Given the description of an element on the screen output the (x, y) to click on. 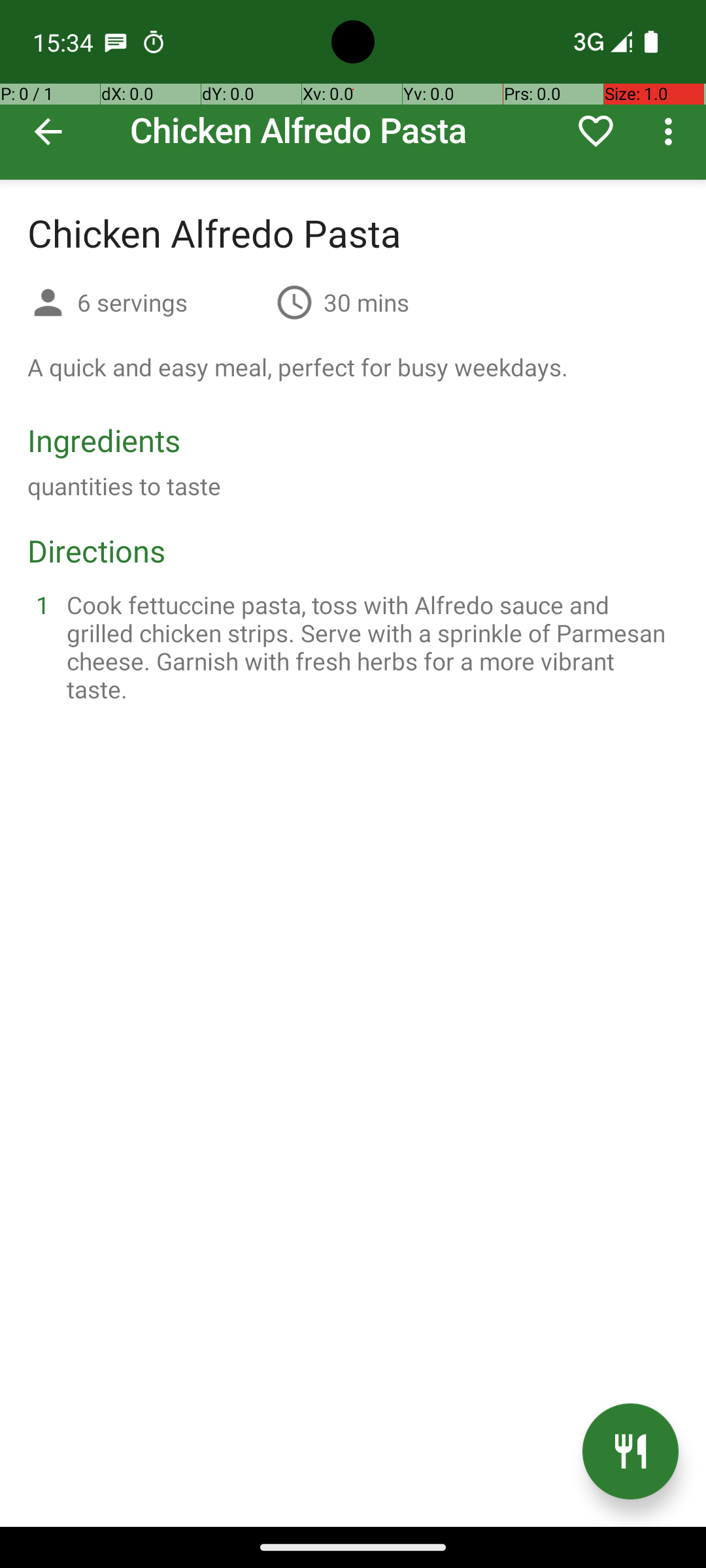
Cook fettuccine pasta, toss with Alfredo sauce and grilled chicken strips. Serve with a sprinkle of Parmesan cheese. Garnish with fresh herbs for a more vibrant taste. Element type: android.widget.TextView (368, 646)
